Given the description of an element on the screen output the (x, y) to click on. 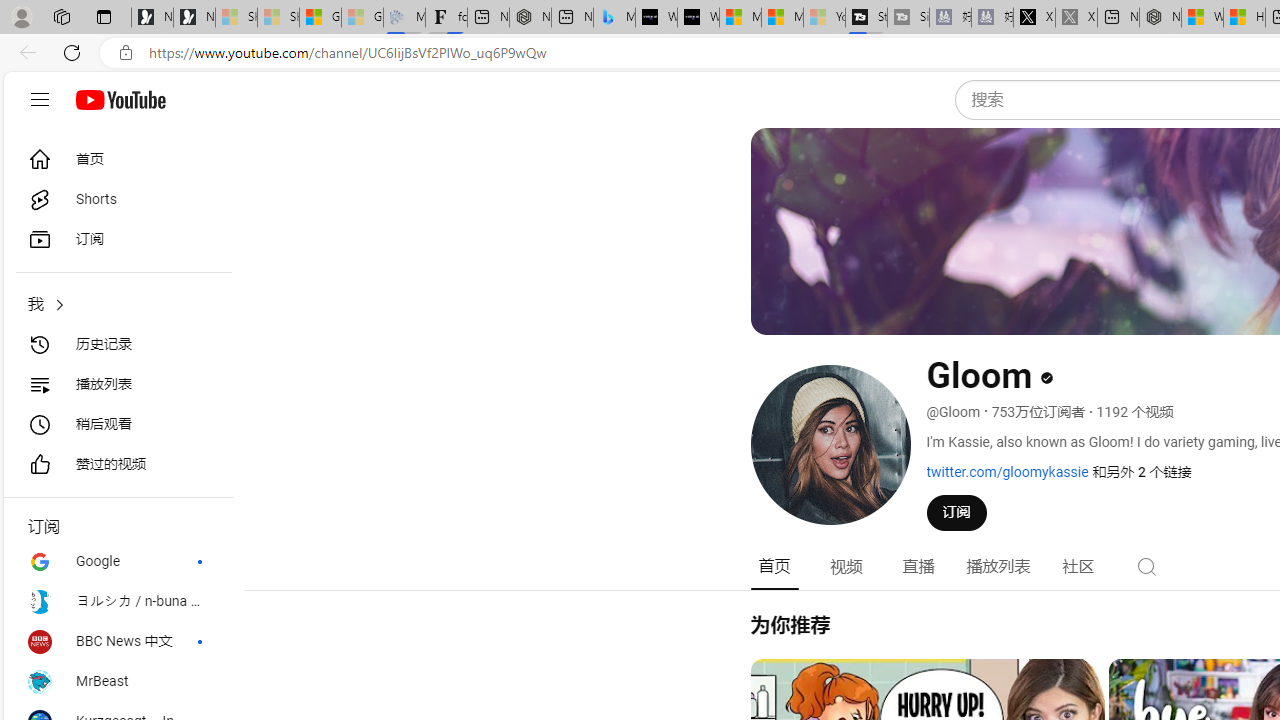
Huge shark washes ashore at New York City beach | Watch (1243, 17)
twitter.com/gloomykassie (1007, 471)
Shorts (117, 200)
